Given the description of an element on the screen output the (x, y) to click on. 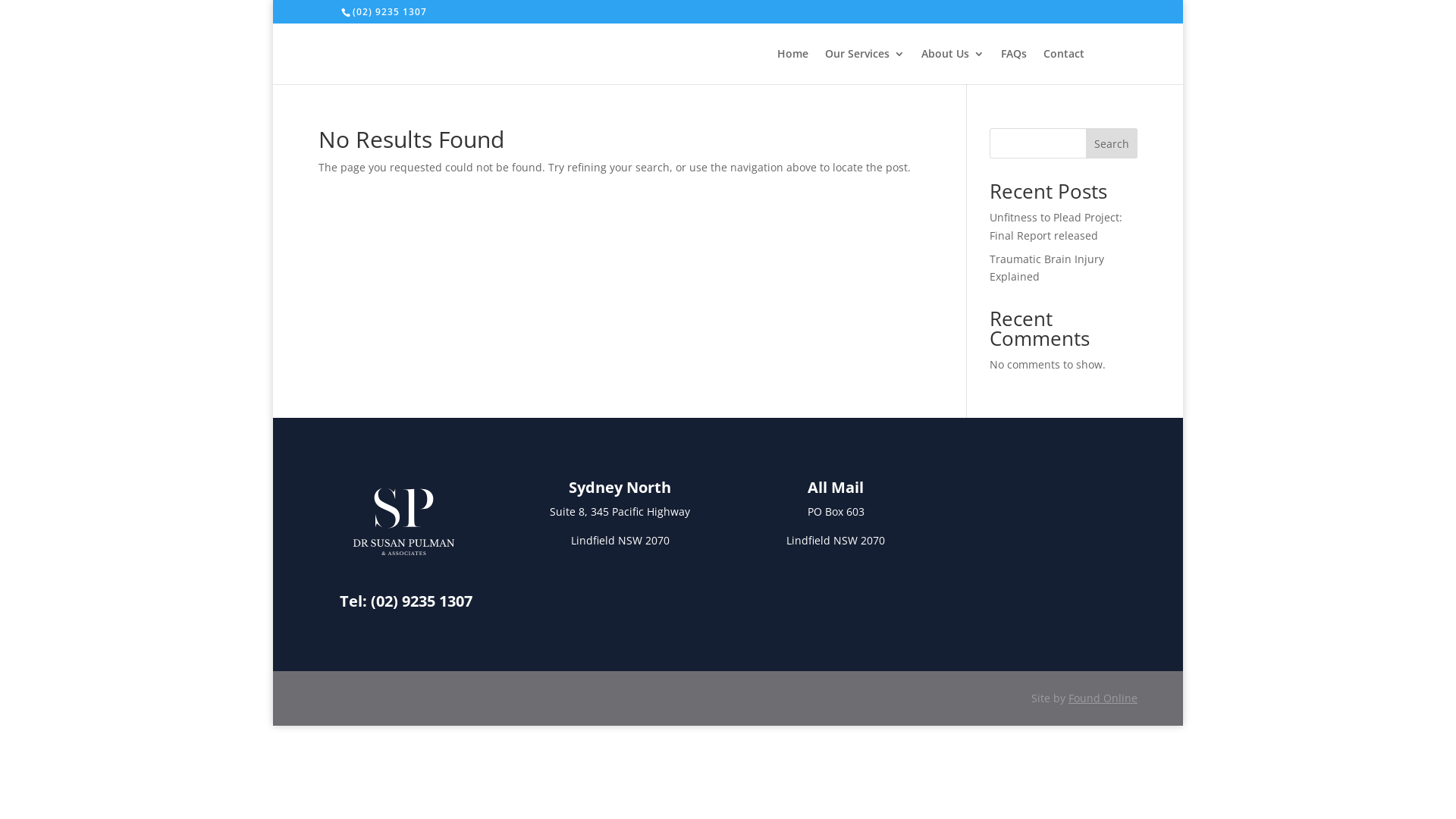
About Us Element type: text (952, 66)
Traumatic Brain Injury Explained Element type: text (1046, 267)
logo_white_transparent Element type: hover (403, 521)
Contact Element type: text (1063, 66)
Home Element type: text (792, 66)
Found Online Element type: text (1102, 697)
Unfitness to Plead Project: Final Report released Element type: text (1055, 226)
Our Services Element type: text (864, 66)
Search Element type: text (1111, 143)
FAQs Element type: text (1013, 66)
